Given the description of an element on the screen output the (x, y) to click on. 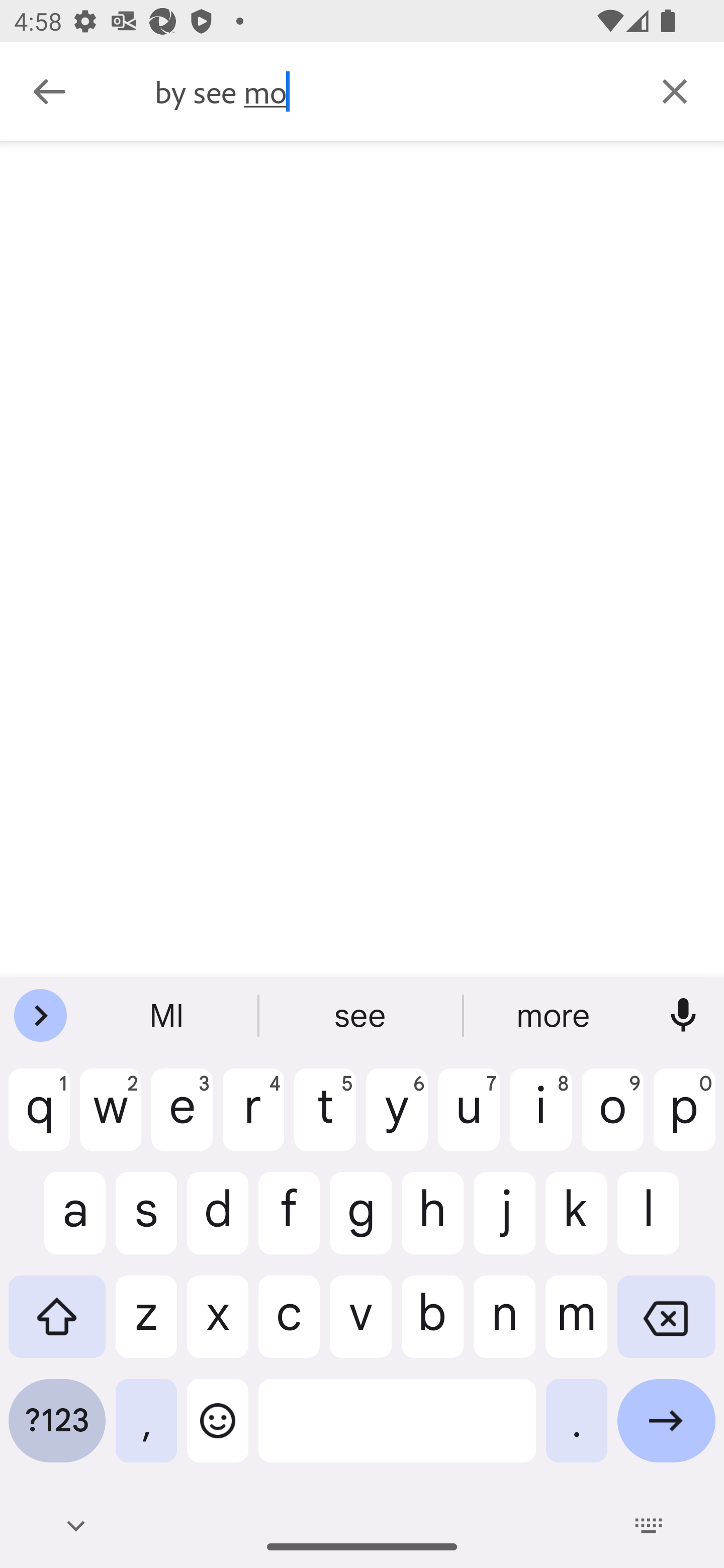
Navigate up (49, 91)
Clear query (674, 90)
by see mo (389, 91)
